Given the description of an element on the screen output the (x, y) to click on. 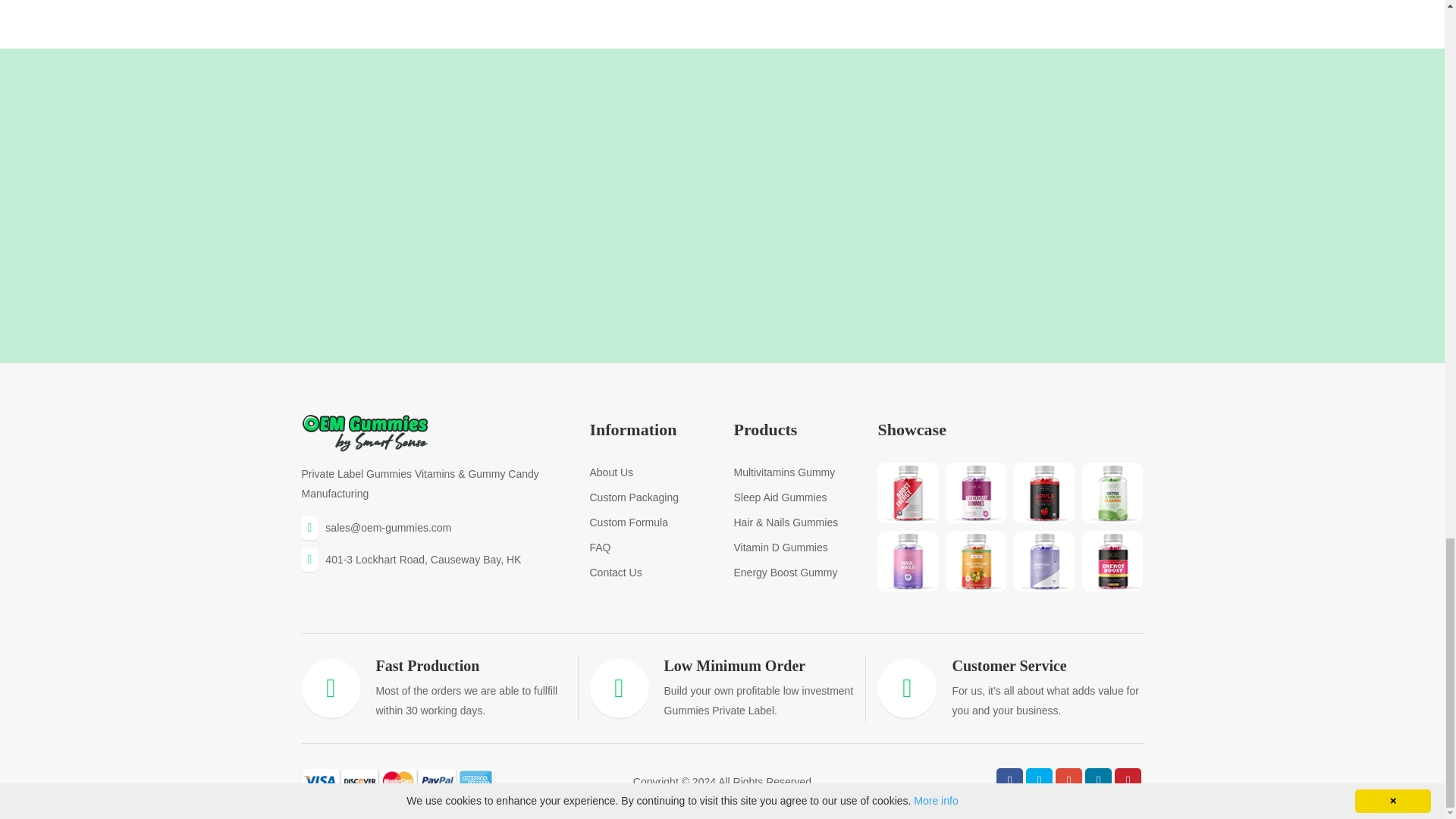
Contact Us (615, 572)
Vitamin D Gummies (780, 547)
Multivitamins Gummy (783, 472)
Sleep Aid Gummies (780, 497)
Custom Packaging (633, 497)
Energy Boost Gummy (785, 572)
Custom Formula (627, 522)
About Us (611, 472)
Submit (888, 264)
FAQ (599, 547)
